Given the description of an element on the screen output the (x, y) to click on. 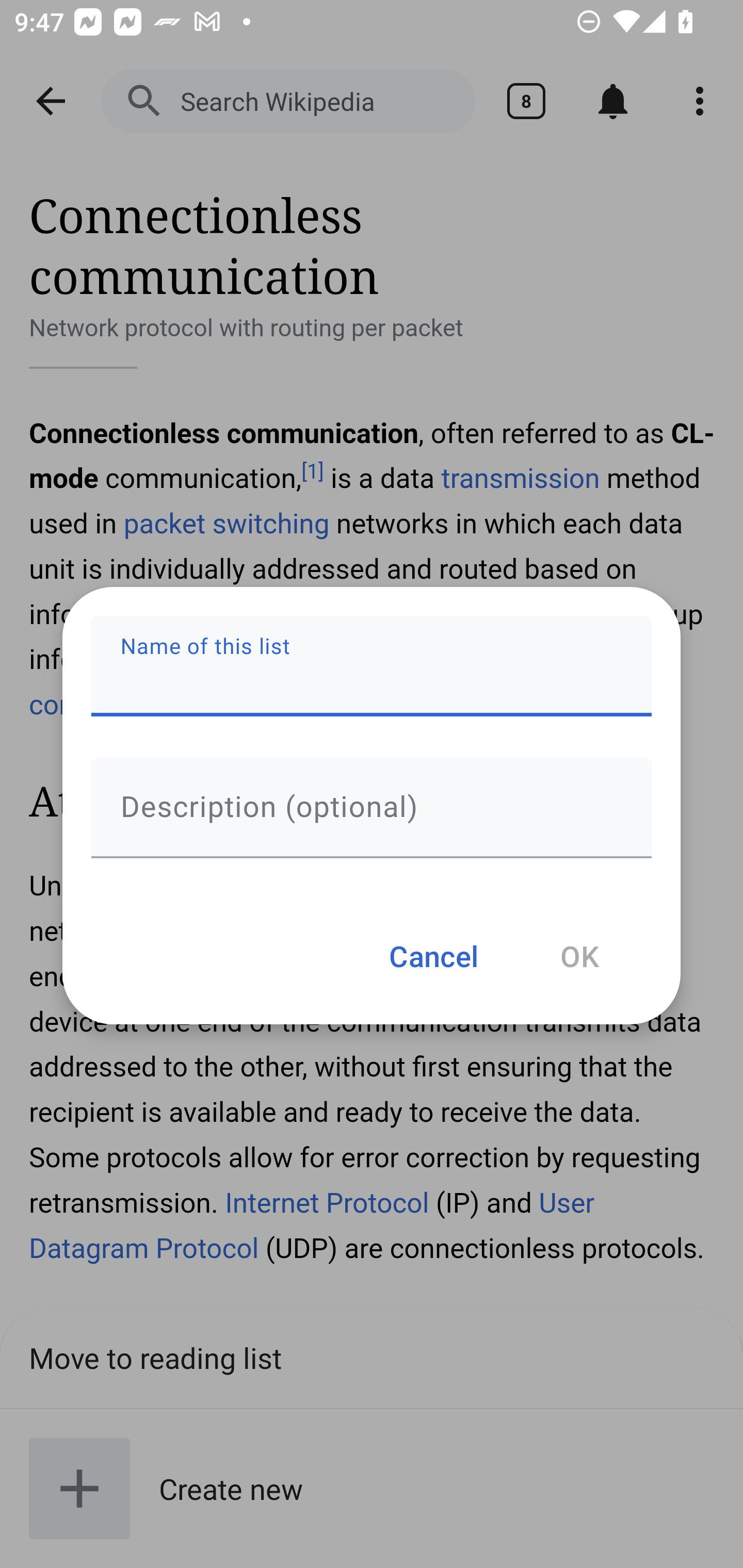
Name of this list (371, 666)
Description (optional) (371, 807)
Cancel (433, 955)
OK (579, 955)
